Given the description of an element on the screen output the (x, y) to click on. 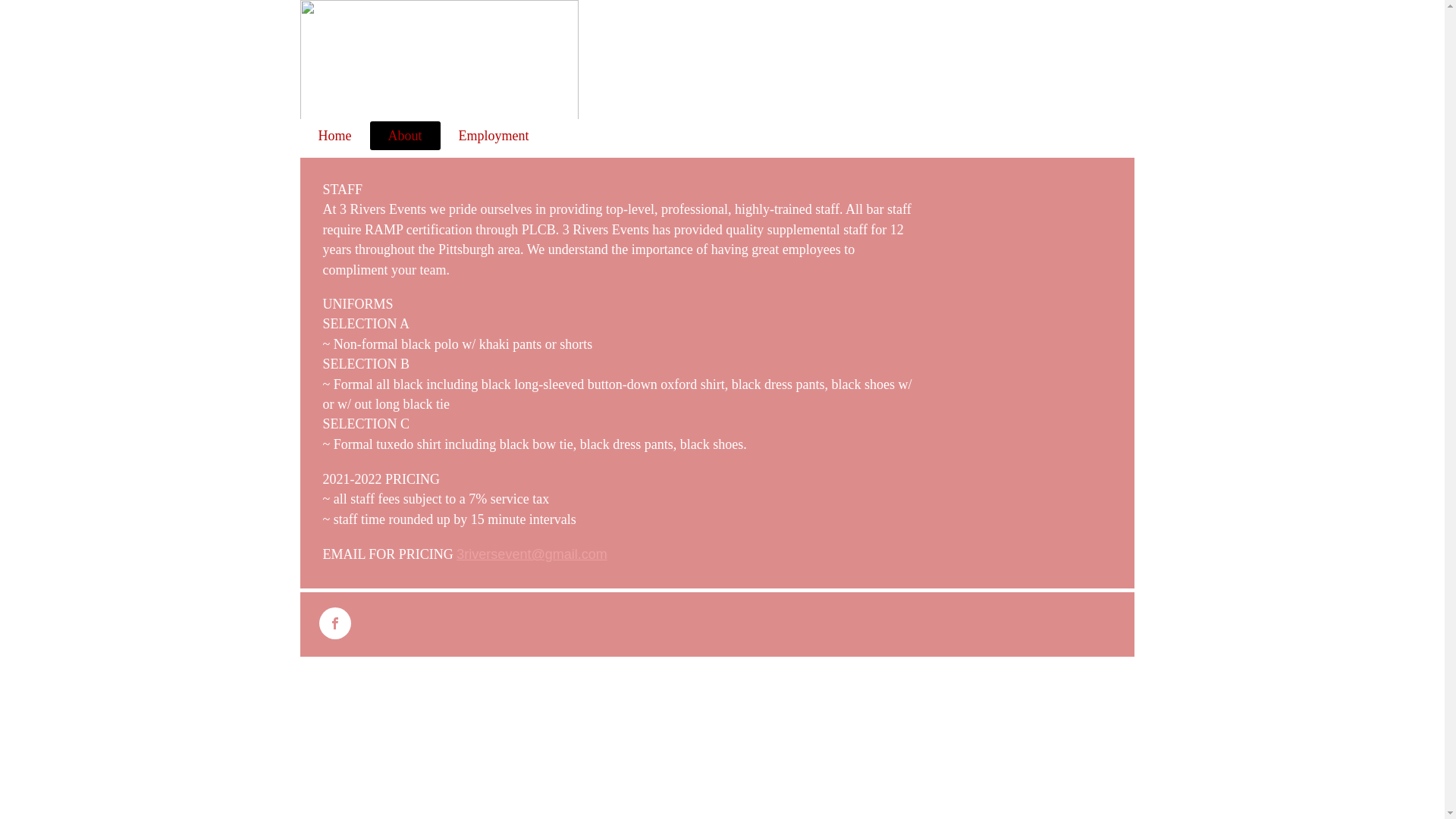
Home Element type: text (335, 135)
3riversevent@gmail.com Element type: text (531, 554)
About Element type: text (405, 135)
Employment Element type: text (492, 135)
